Given the description of an element on the screen output the (x, y) to click on. 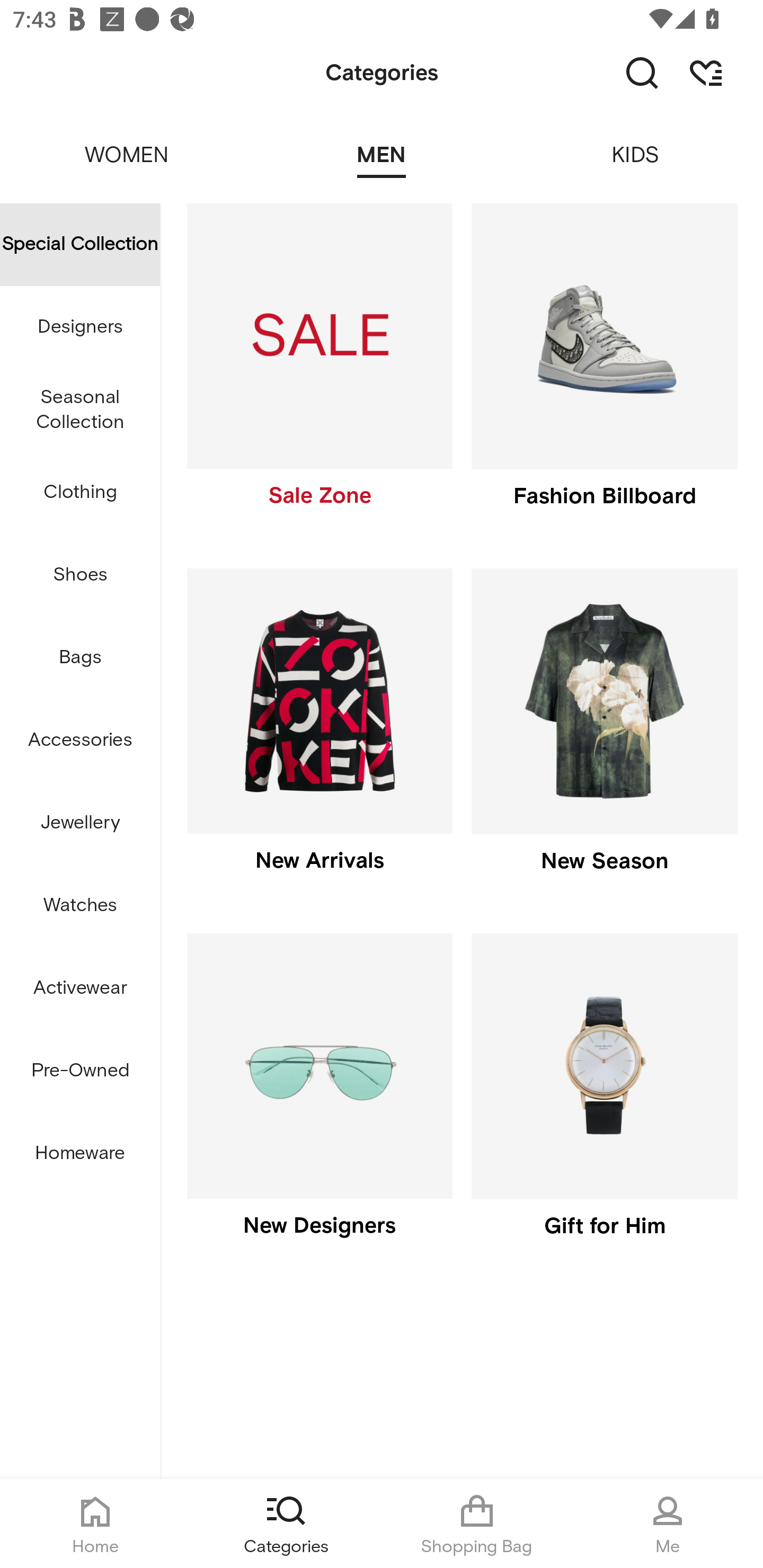
WOMEN (127, 143)
KIDS (635, 143)
Special Collection (80, 244)
Sale Zone (319, 369)
Fashion Billboard (604, 369)
Designers (80, 326)
Seasonal Collection (80, 409)
Clothing (80, 492)
Shoes (80, 575)
New Arrivals (319, 734)
New Season (604, 734)
Bags (80, 657)
Accessories (80, 740)
Jewellery (80, 822)
Watches (80, 905)
New Designers (319, 1099)
Gift for Him (604, 1099)
Activewear (80, 988)
Pre-Owned (80, 1070)
Homeware (80, 1152)
Home (95, 1523)
Shopping Bag (476, 1523)
Me (667, 1523)
